Given the description of an element on the screen output the (x, y) to click on. 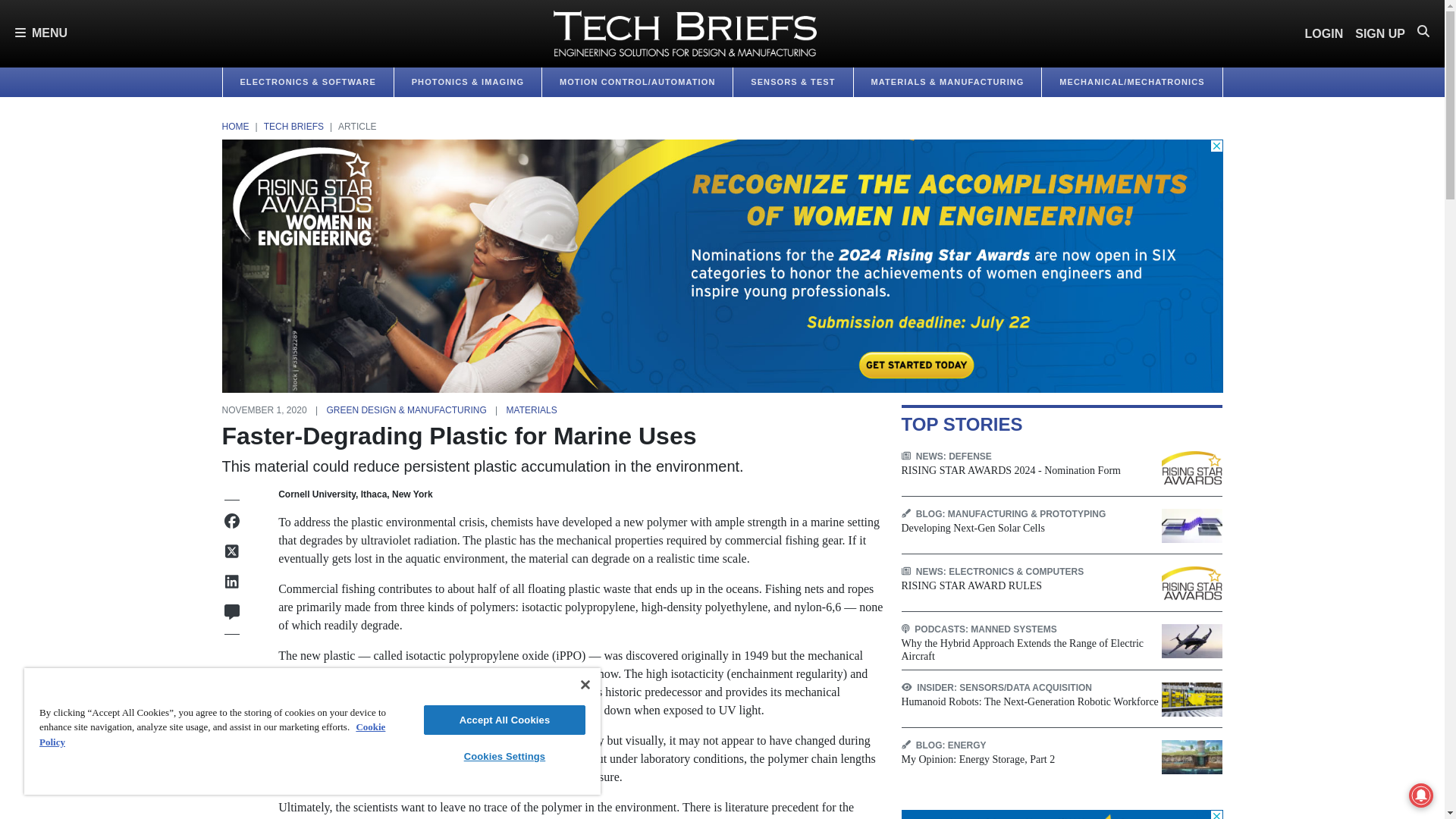
LOGIN (1323, 32)
SIGN UP (1379, 32)
MENU (41, 33)
3rd party ad content (1062, 814)
